Given the description of an element on the screen output the (x, y) to click on. 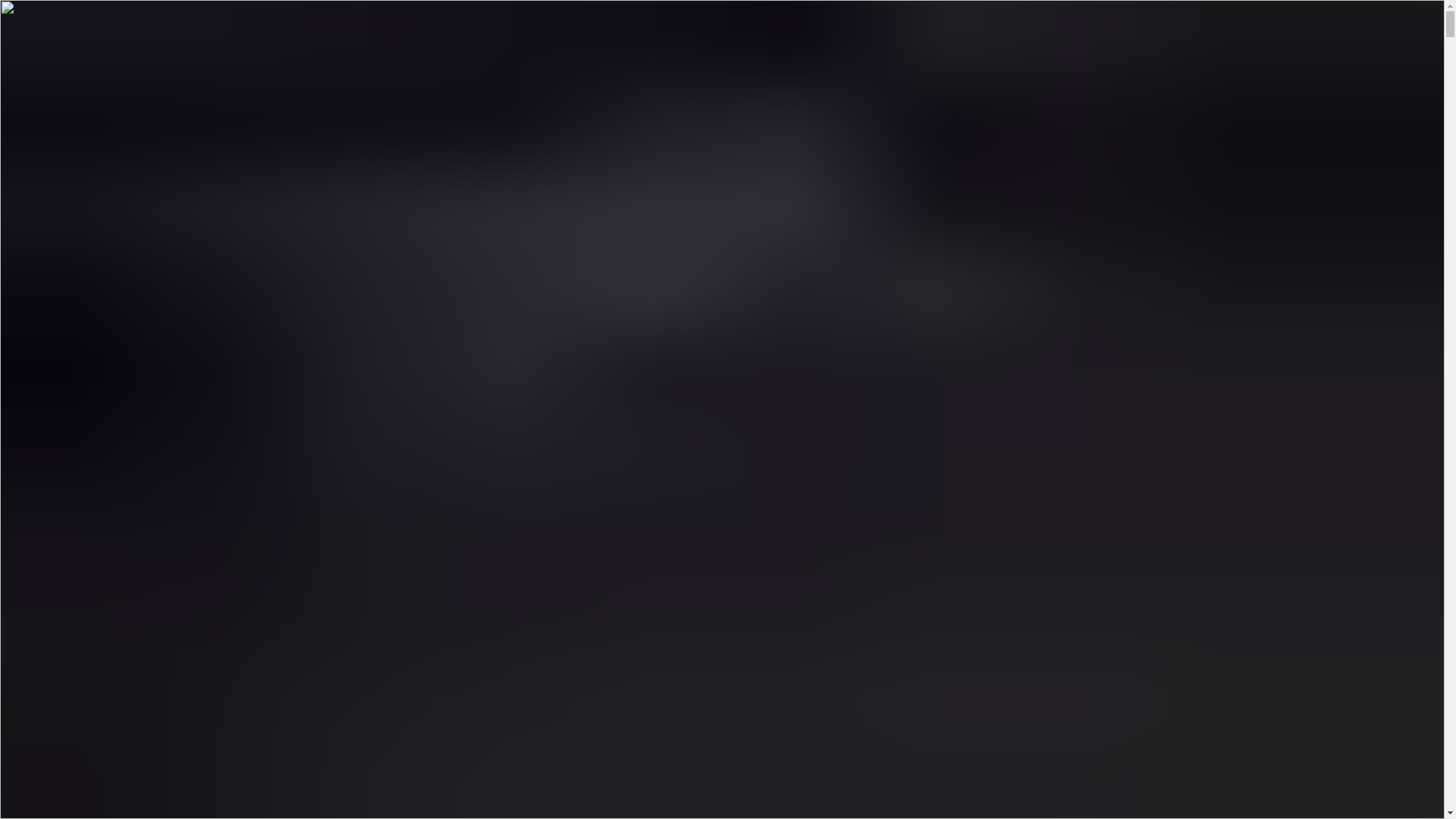
Login (50, 103)
Go to content (41, 45)
